Given the description of an element on the screen output the (x, y) to click on. 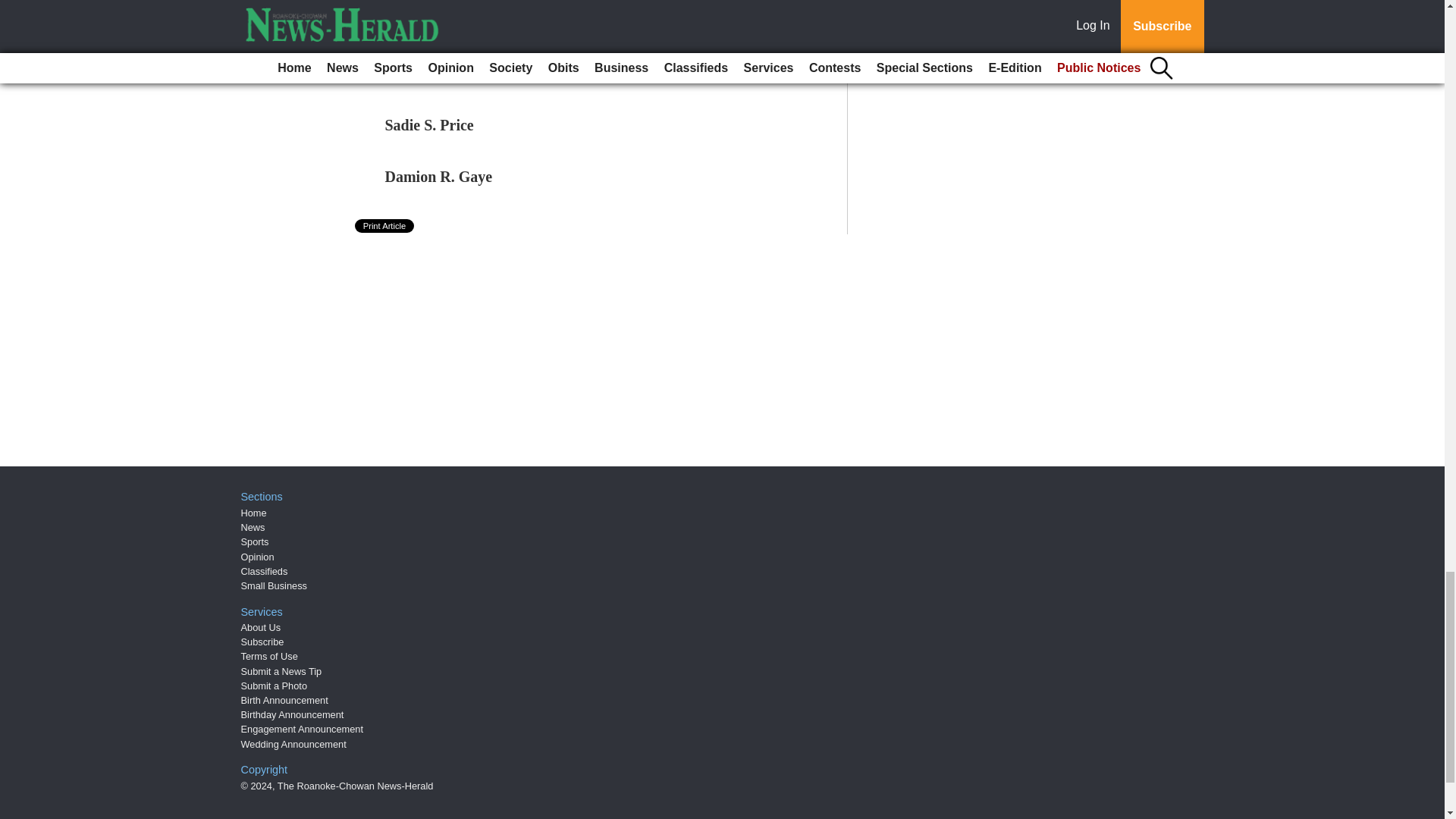
Steven C. Vaughan (446, 73)
Steven C. Vaughan (446, 73)
Sadie S. Price (429, 125)
Print Article (384, 225)
Sadie S. Price (429, 125)
Damion R. Gaye (439, 176)
Catherine B. Artis (444, 21)
Catherine B. Artis (444, 21)
Damion R. Gaye (439, 176)
